Given the description of an element on the screen output the (x, y) to click on. 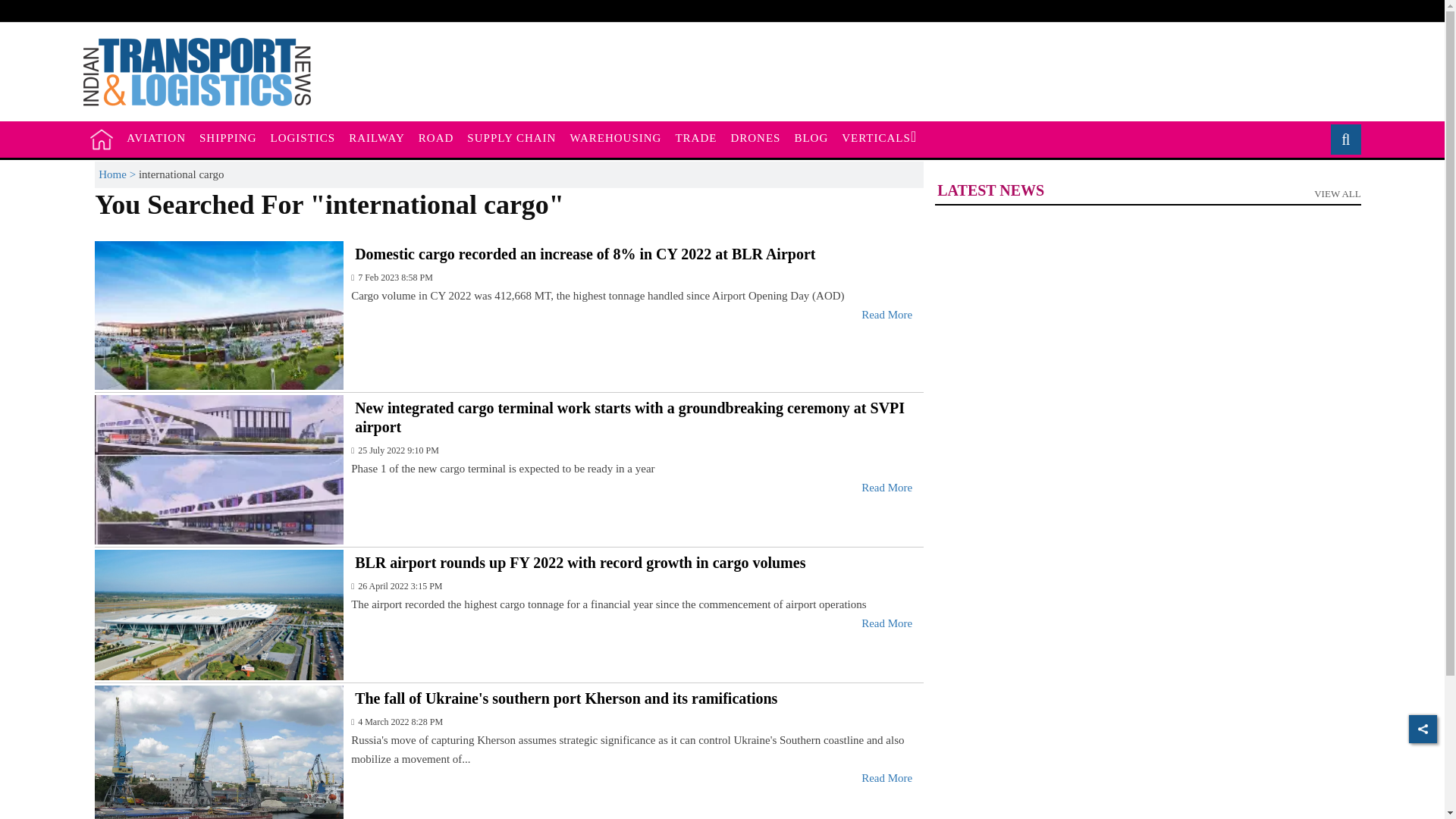
BLOG (810, 138)
ROAD (436, 138)
Share it on (1422, 728)
SUPPLY CHAIN (511, 138)
home (101, 138)
VERTICALS (878, 138)
LOGISTICS (302, 138)
TRADE (695, 138)
